Given the description of an element on the screen output the (x, y) to click on. 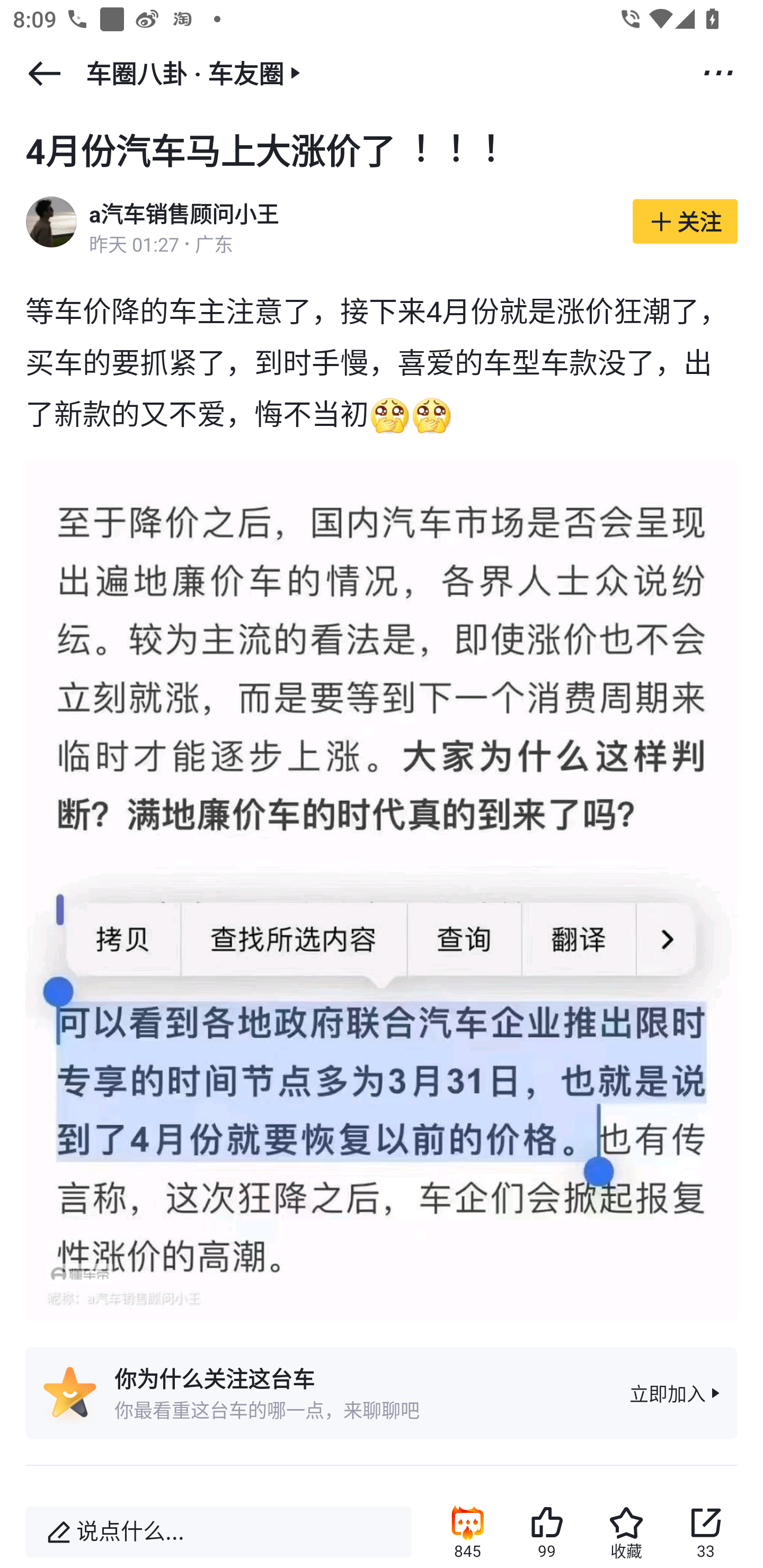
 (718, 71)
 (44, 73)
车圈八卦  · 车友圈 (195, 73)
a汽车销售顾问小王 (183, 214)
 关注 (684, 221)
你为什么关注这台车 你最看重这台车的哪一点，来聊聊吧 立即加入  (381, 1405)
845 (467, 1531)
99 (546, 1531)
收藏 (625, 1531)
 33 (705, 1531)
 说点什么... (218, 1531)
